Given the description of an element on the screen output the (x, y) to click on. 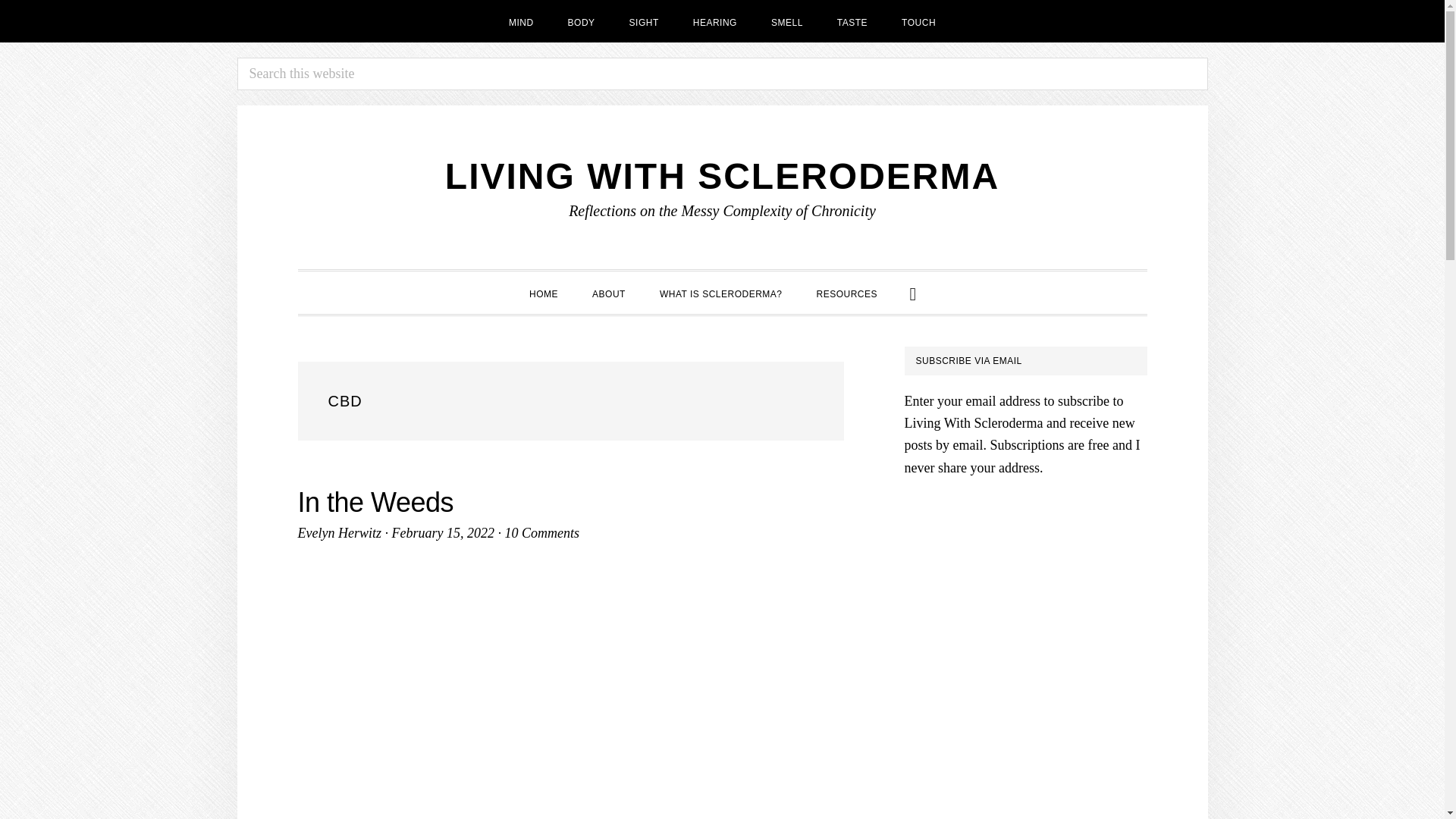
HEARING (715, 21)
TASTE (852, 21)
TOUCH (918, 21)
RESOURCES (847, 292)
10 Comments (541, 532)
LIVING WITH SCLERODERMA (721, 176)
SIGHT (644, 21)
BODY (581, 21)
SMELL (786, 21)
ABOUT (608, 292)
Evelyn Herwitz (338, 532)
